Given the description of an element on the screen output the (x, y) to click on. 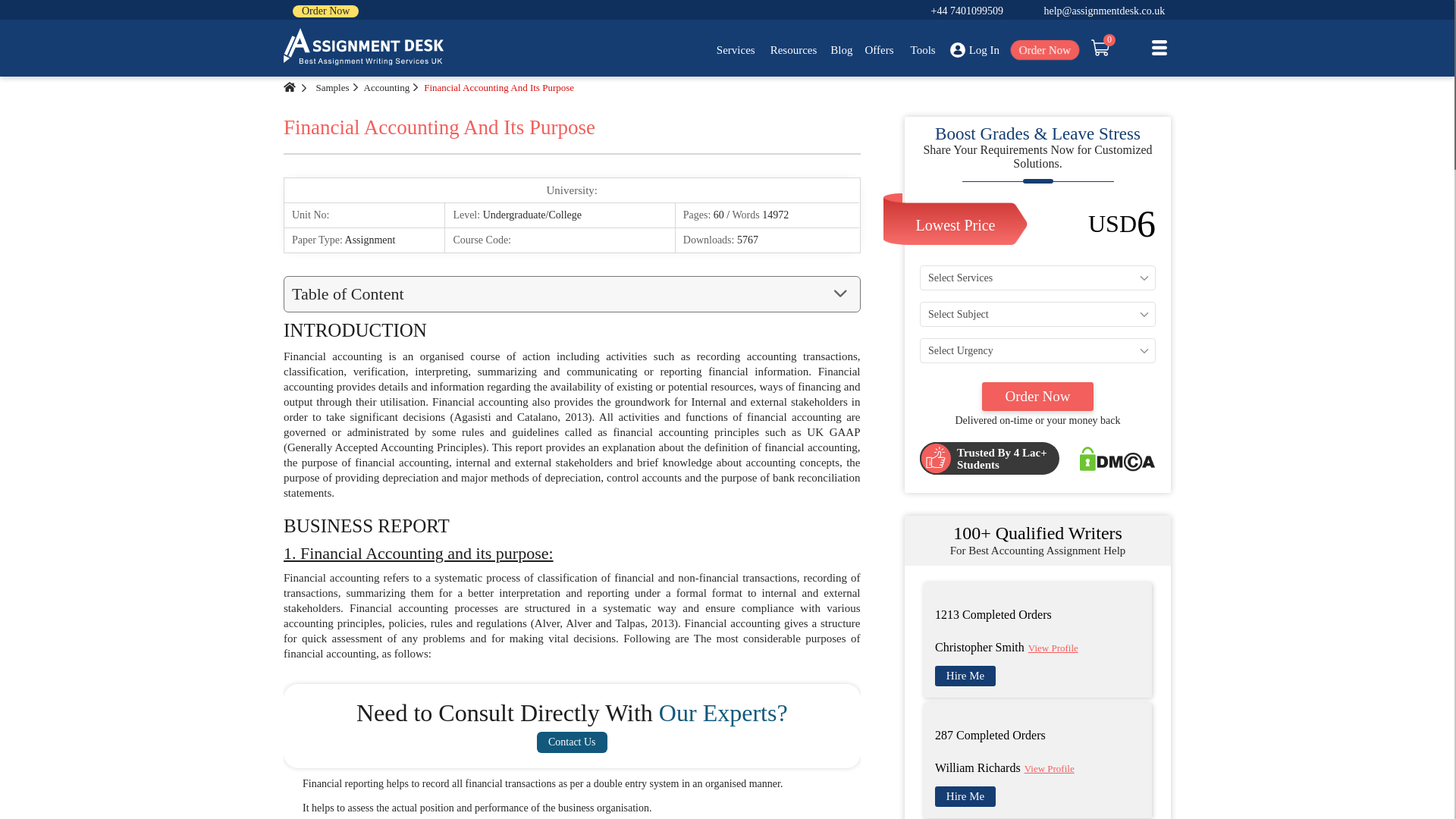
Home (289, 86)
Assignment help (363, 47)
Order Now (325, 10)
